Given the description of an element on the screen output the (x, y) to click on. 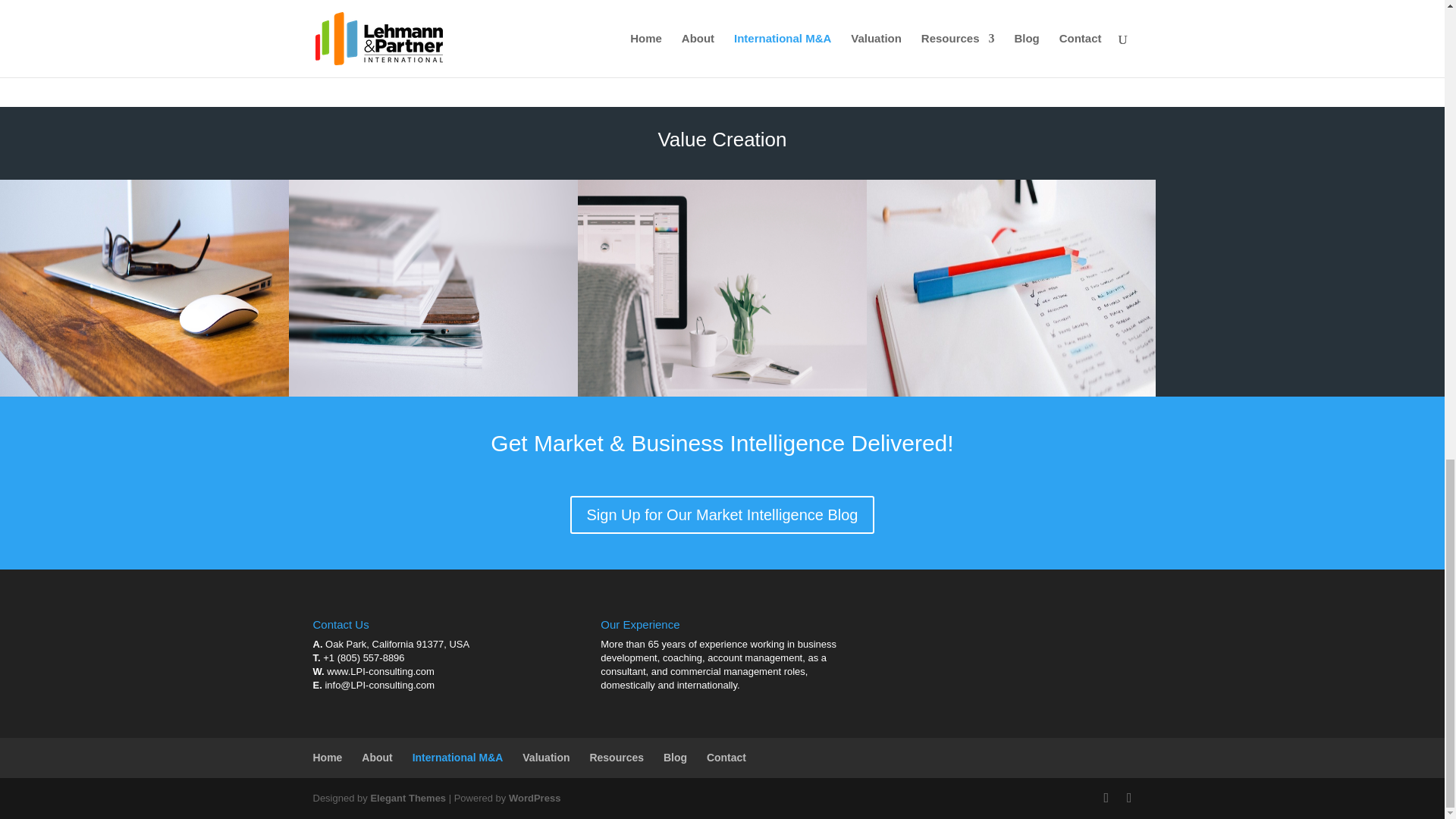
About (376, 757)
WordPress (534, 797)
Elegant Themes (407, 797)
Contact (725, 757)
Home (327, 757)
Valuation (545, 757)
Resources (616, 757)
Premium WordPress Themes (407, 797)
Blog (675, 757)
Sign Up for Our Market Intelligence Blog (722, 514)
